Given the description of an element on the screen output the (x, y) to click on. 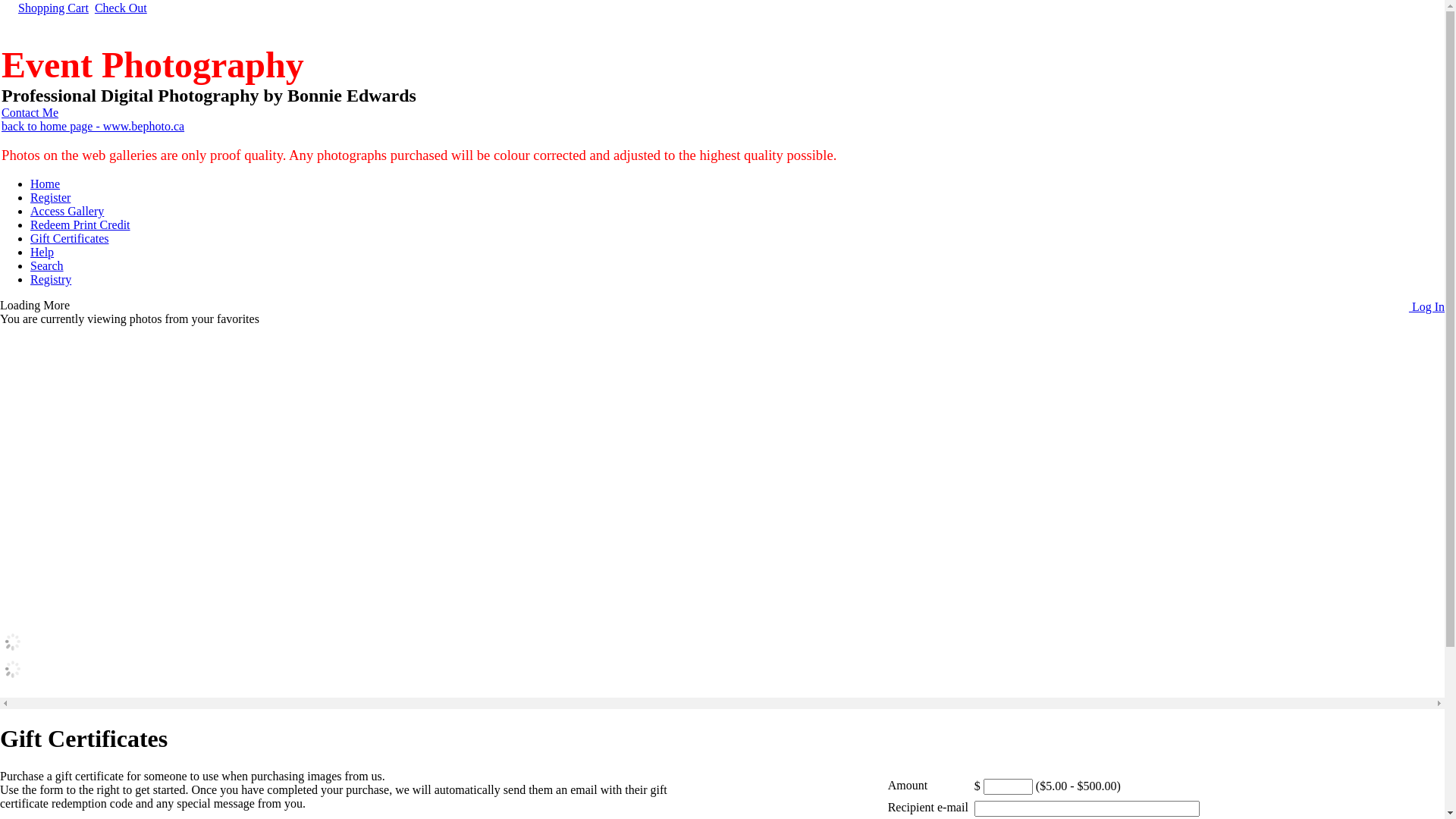
Register Element type: text (50, 197)
Check Out Element type: text (120, 7)
Home Element type: text (44, 183)
back to home page - www.bephoto.ca Element type: text (92, 125)
Log In Element type: text (1420, 306)
Search Element type: text (46, 265)
Access Gallery Element type: text (66, 210)
Contact Me Element type: text (29, 112)
Help Element type: text (41, 251)
Redeem Print Credit Element type: text (80, 224)
Registry Element type: text (50, 279)
Shopping Cart Element type: text (53, 7)
Gift Certificates Element type: text (69, 238)
